Given the description of an element on the screen output the (x, y) to click on. 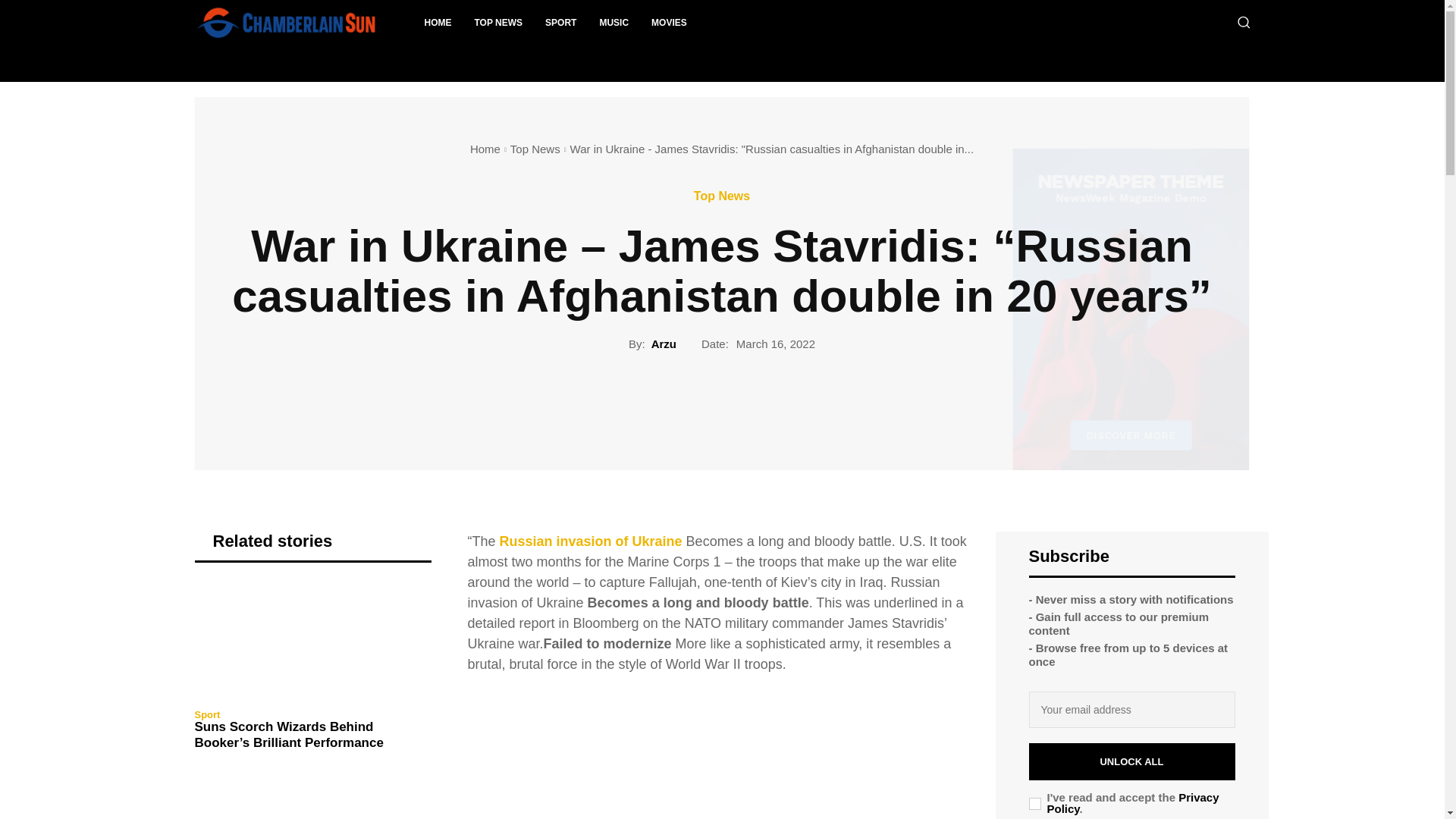
Arzu (663, 344)
MOVIES (669, 22)
SPORT (561, 22)
Top News (721, 196)
MUSIC (614, 22)
Top News (535, 148)
HOME (437, 22)
Sport (206, 714)
TOP NEWS (498, 22)
View all posts in Top News (535, 148)
Home (485, 148)
